Given the description of an element on the screen output the (x, y) to click on. 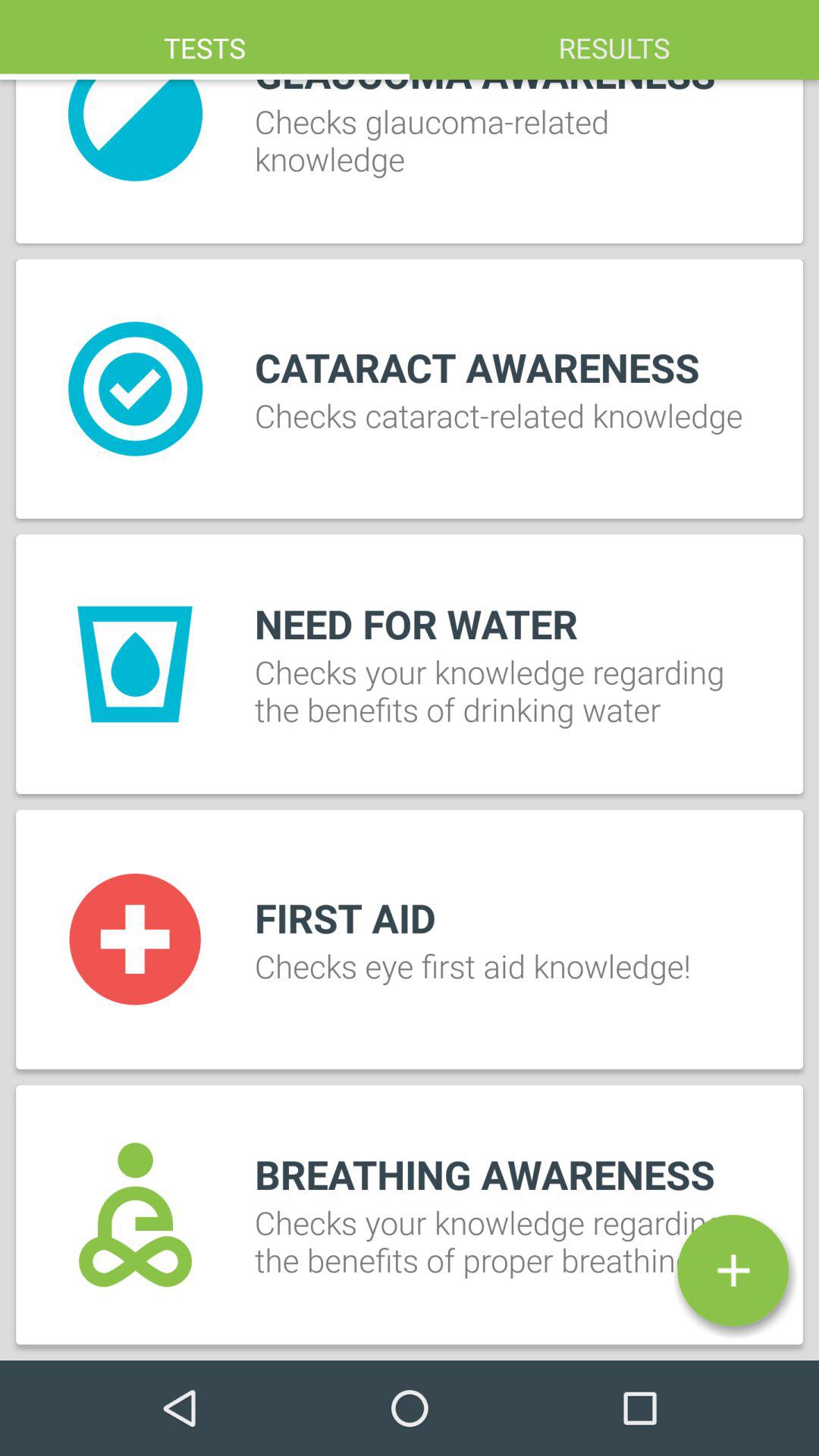
scroll to the tests icon (204, 39)
